Given the description of an element on the screen output the (x, y) to click on. 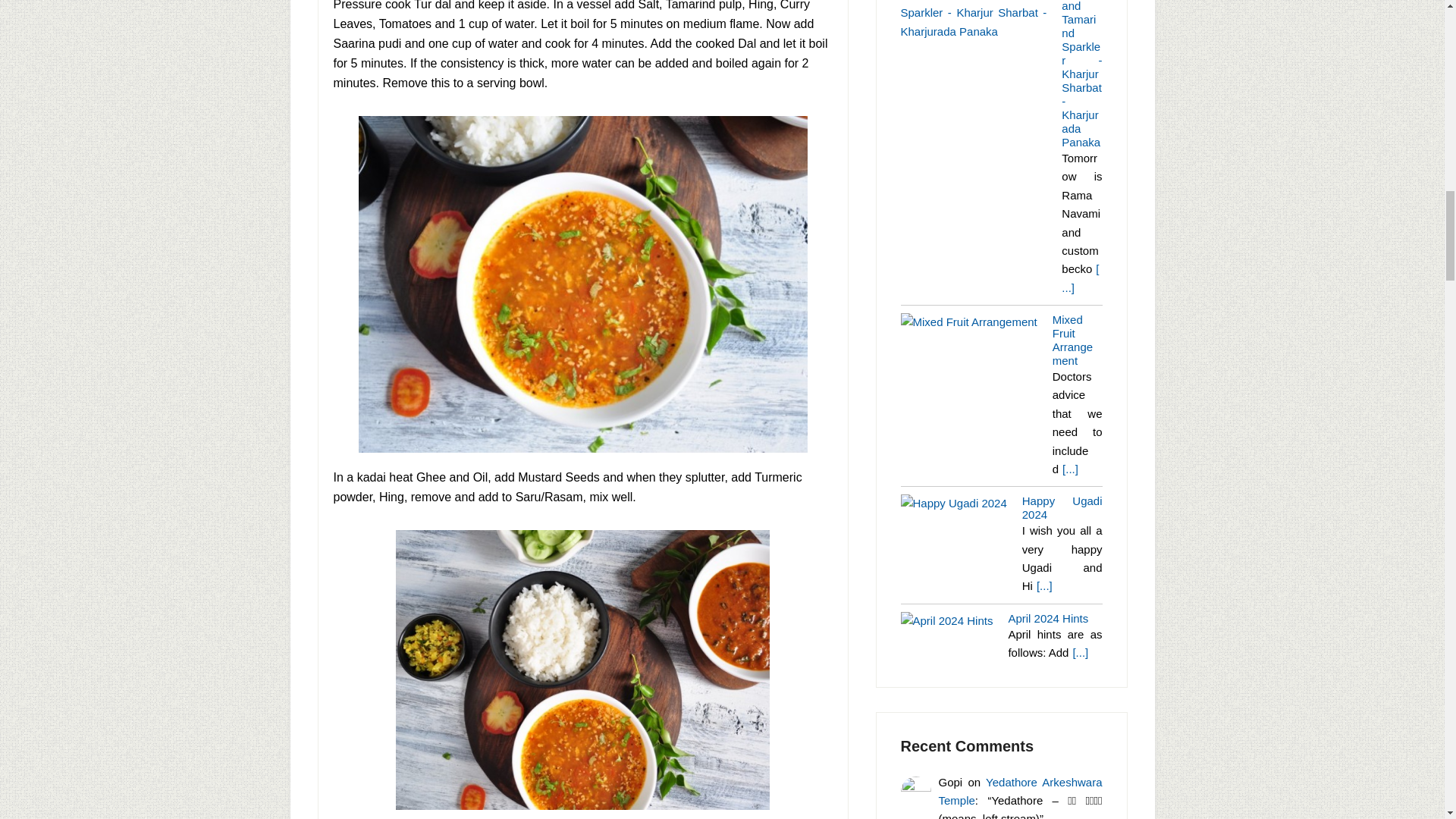
Tomato Saru (583, 669)
